Given the description of an element on the screen output the (x, y) to click on. 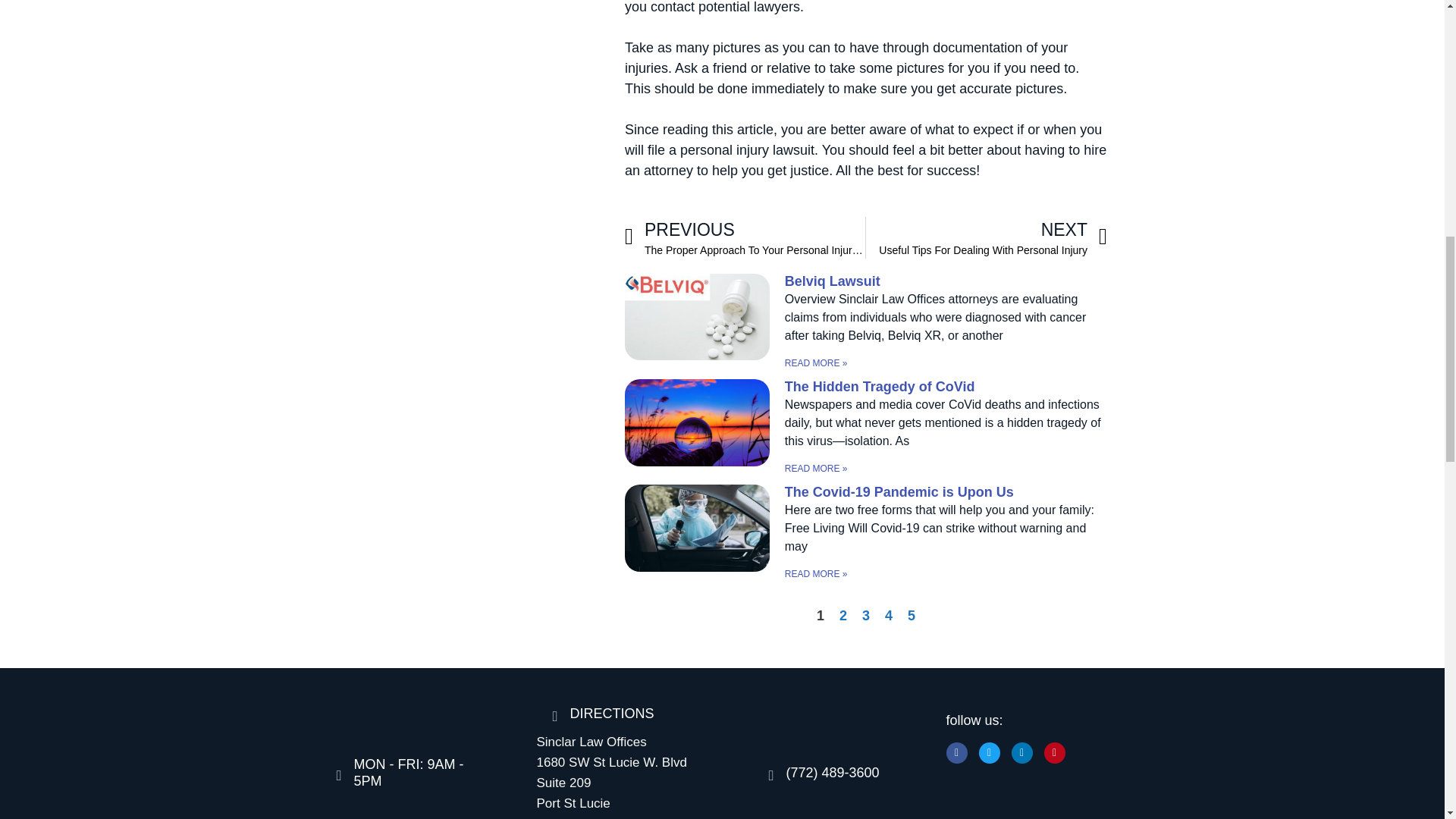
The Hidden Tragedy of CoVid (879, 386)
The Covid-19 Pandemic is Upon Us (745, 238)
Belviq Lawsuit (898, 491)
